Given the description of an element on the screen output the (x, y) to click on. 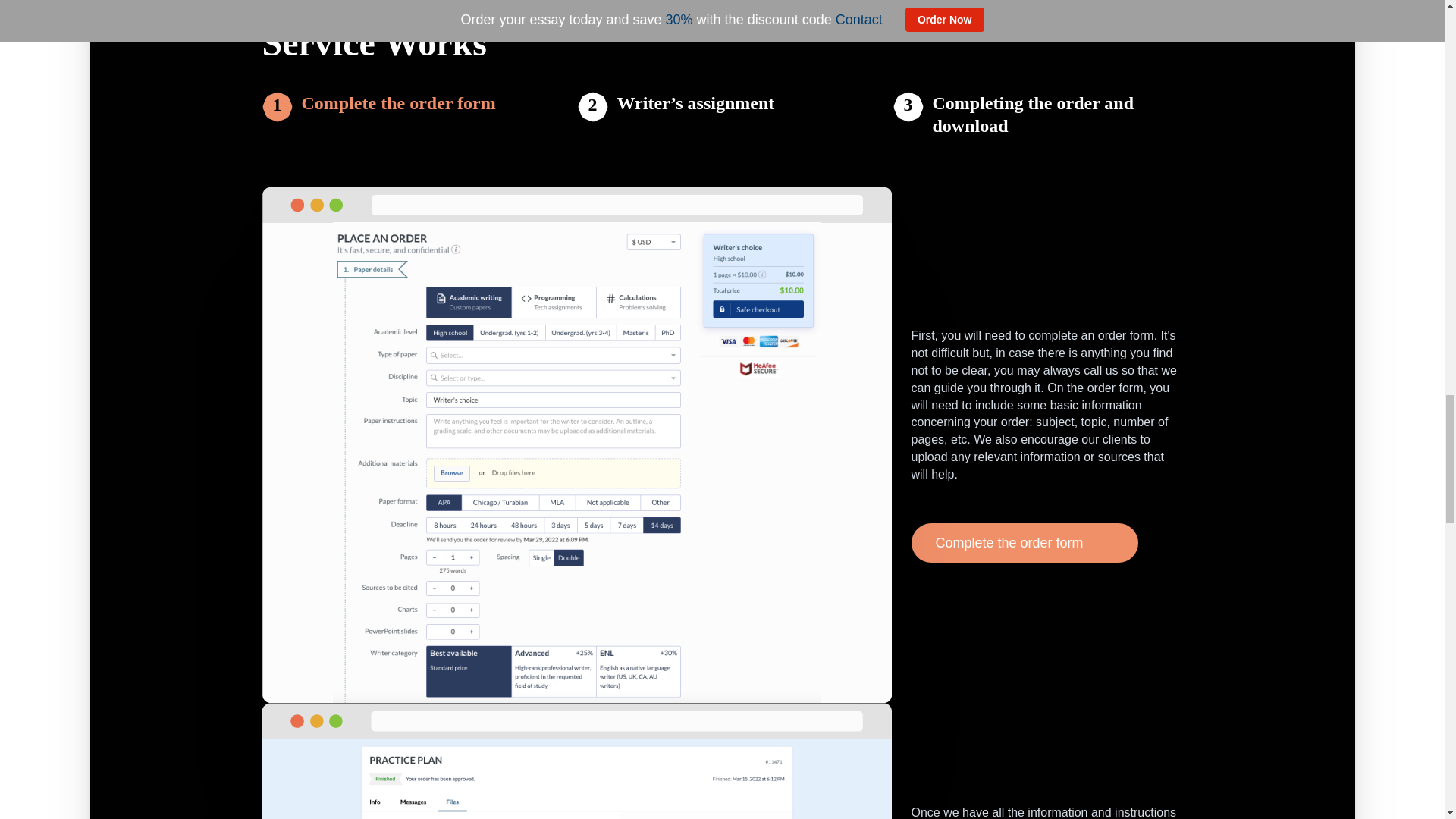
Complete the order form (1024, 542)
Completing the order and download (1057, 114)
Complete the order form (398, 114)
